Given the description of an element on the screen output the (x, y) to click on. 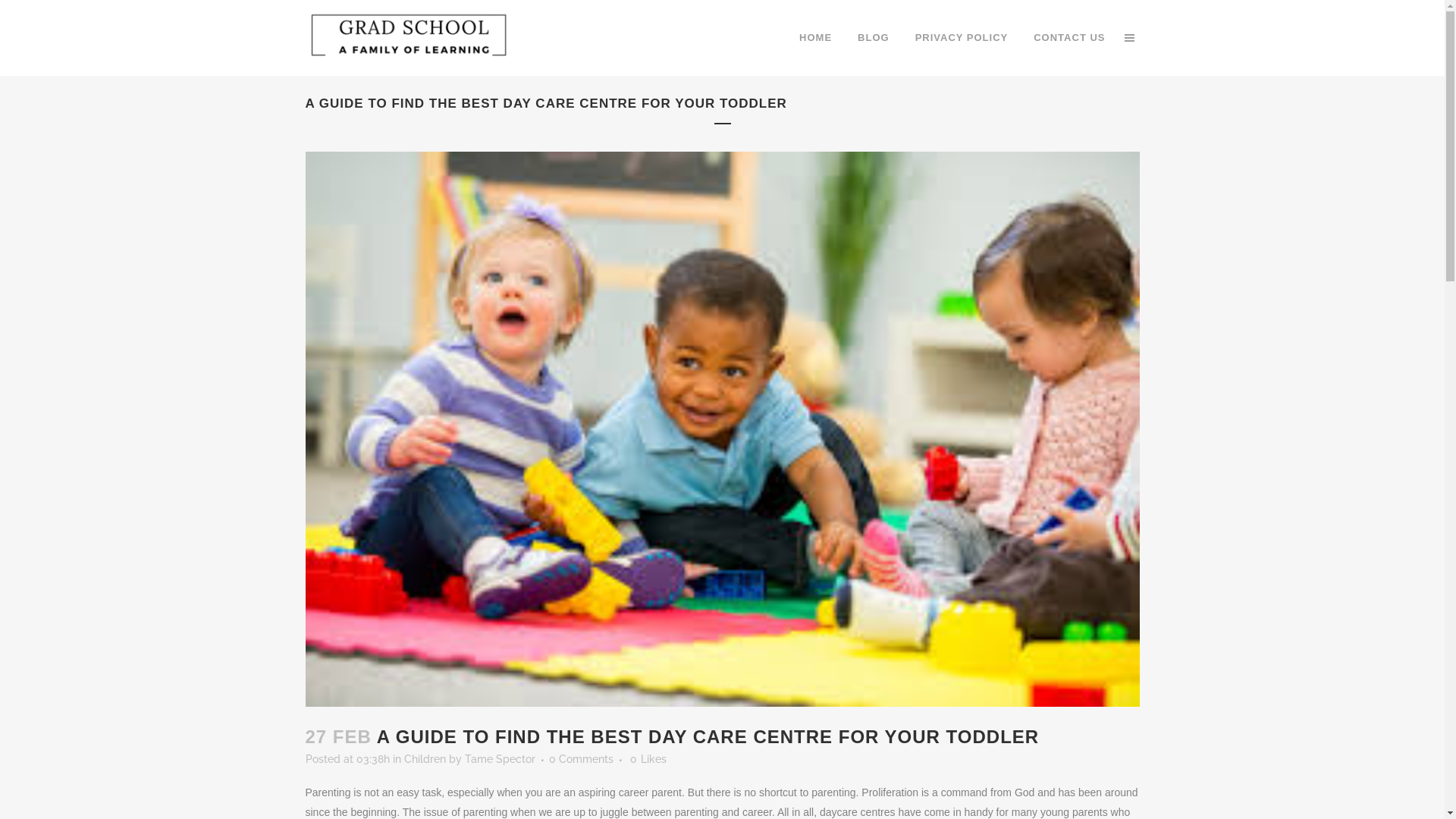
0 Likes Element type: text (647, 758)
0 Comments Element type: text (581, 759)
  Element type: text (1128, 37)
Children Element type: text (424, 759)
CONTACT US Element type: text (1068, 37)
BLOG Element type: text (873, 37)
PRIVACY POLICY Element type: text (961, 37)
HOME Element type: text (815, 37)
Tame Spector Element type: text (499, 759)
